Given the description of an element on the screen output the (x, y) to click on. 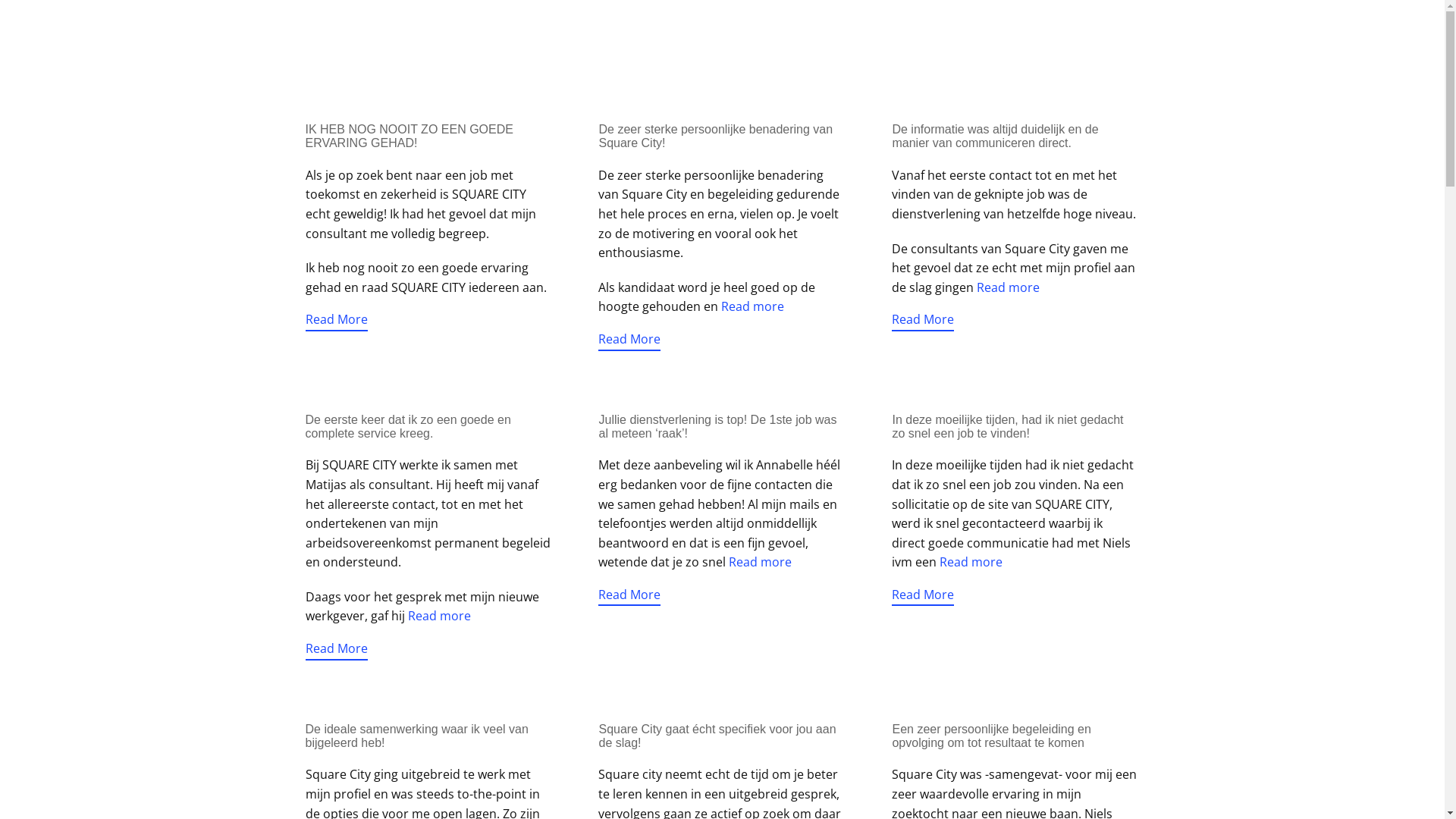
De ideale samenwerking waar ik veel van bijgeleerd heb! Element type: text (415, 735)
Read More Element type: text (629, 595)
Read more Element type: text (1007, 287)
Read more Element type: text (759, 561)
Read more Element type: text (752, 306)
IK HEB NOG NOOIT ZO EEN GOEDE ERVARING GEHAD! Element type: text (408, 135)
Read More Element type: text (335, 649)
Read More Element type: text (922, 595)
Read More Element type: text (629, 340)
Read more Element type: text (970, 561)
Read More Element type: text (335, 320)
Read More Element type: text (922, 320)
De zeer sterke persoonlijke benadering van Square City! Element type: text (715, 135)
Read more Element type: text (438, 615)
